Given the description of an element on the screen output the (x, y) to click on. 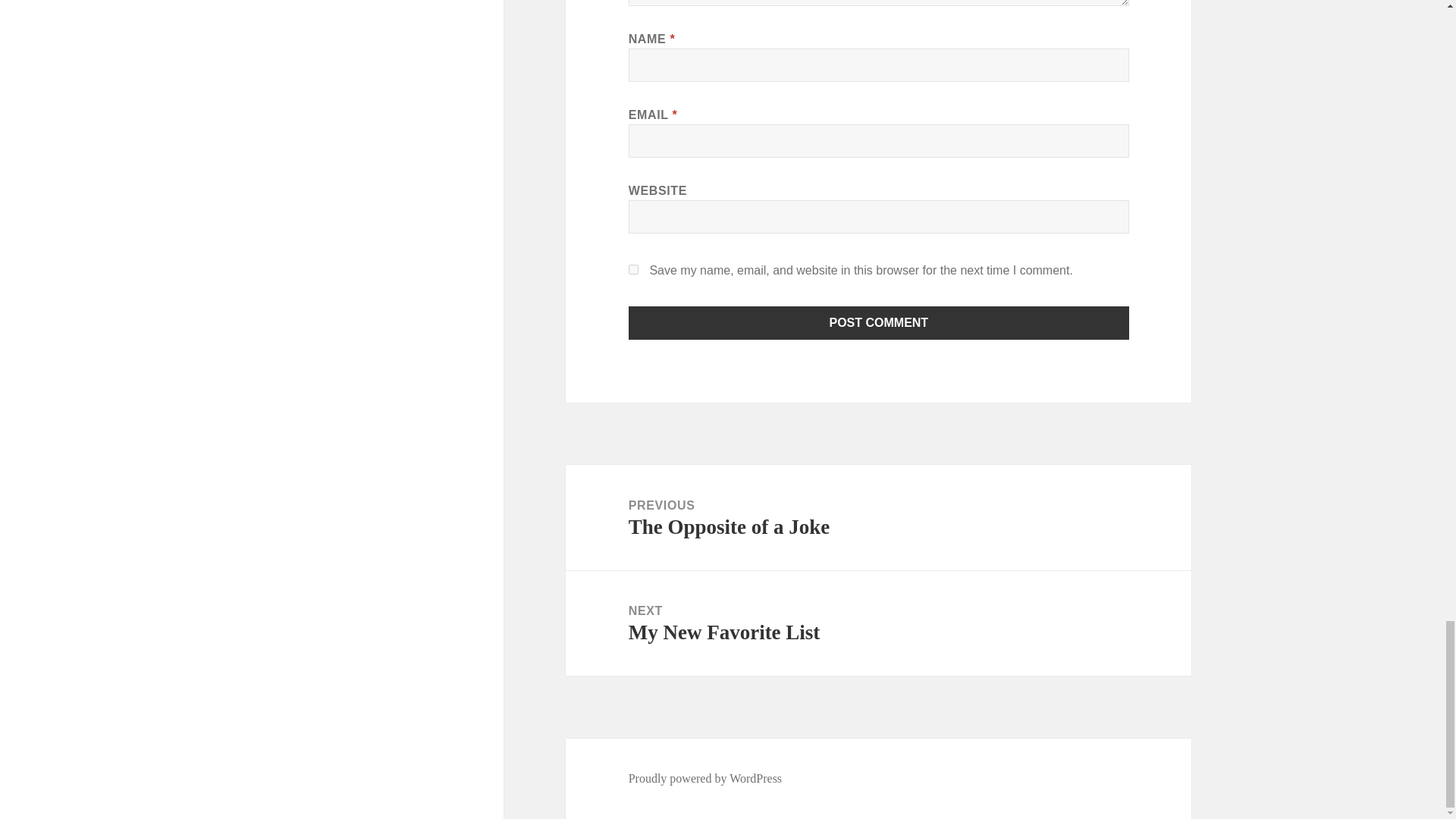
Post Comment (878, 322)
Proudly powered by WordPress (878, 623)
yes (704, 778)
Post Comment (633, 269)
